Given the description of an element on the screen output the (x, y) to click on. 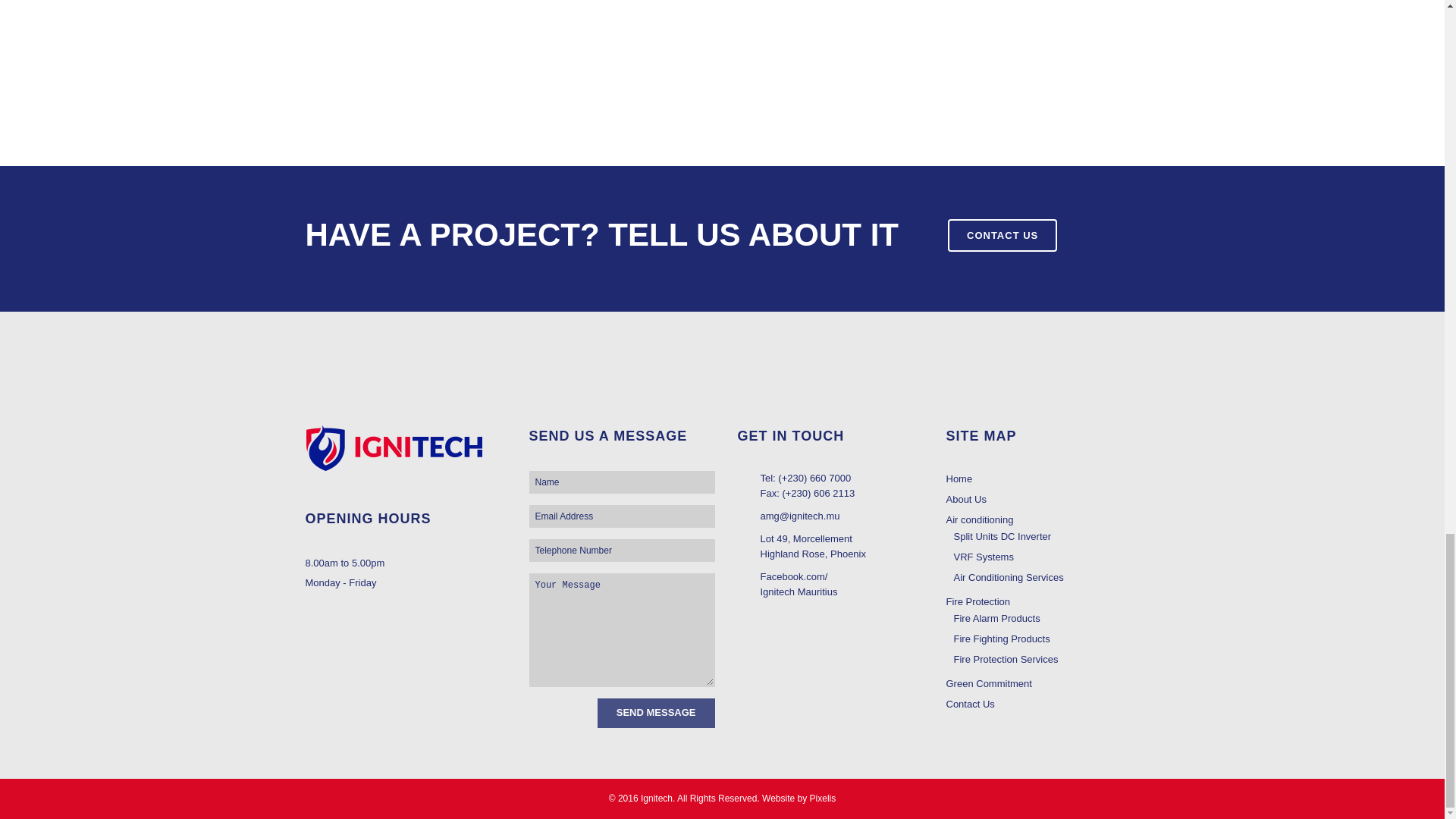
Fire Fighting Products (1046, 638)
About Us (1043, 499)
VRF Systems (1046, 556)
SEND MESSAGE (655, 713)
Fire Protection Services (1046, 659)
Split Units DC Inverter (1046, 536)
Air conditioning (1043, 519)
Fire Alarm Products (1046, 618)
Air Conditioning Services (1046, 577)
Fire Protection (1043, 601)
Home (1043, 478)
CONTACT US (1002, 235)
